Given the description of an element on the screen output the (x, y) to click on. 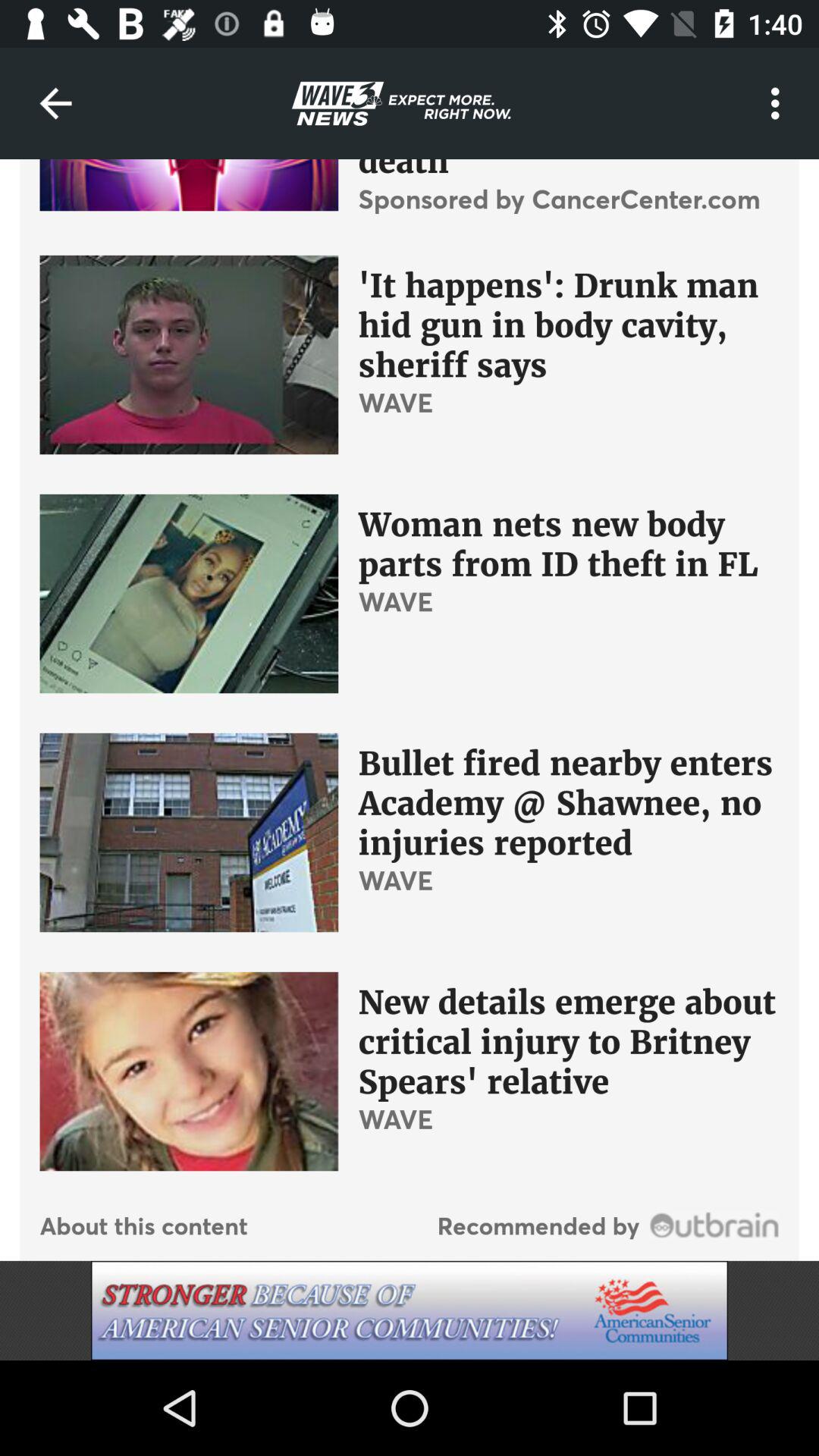
advertisement (409, 1310)
